Given the description of an element on the screen output the (x, y) to click on. 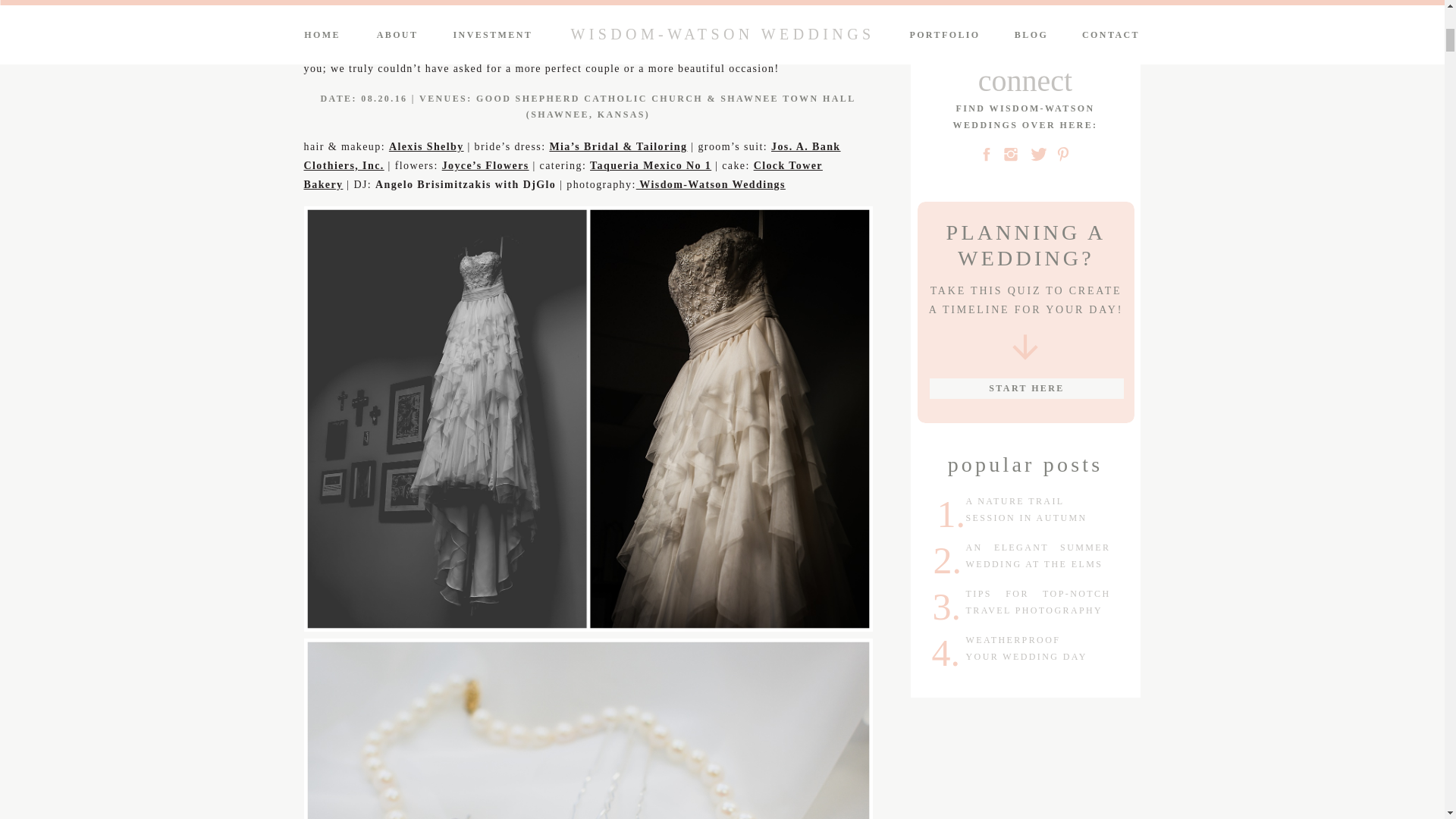
 Wisdom-Watson Weddings (711, 184)
Jos. A. Bank Clothiers, Inc. (571, 155)
CONTACT ME (1026, 7)
START HERE (1026, 388)
Alexis Shelby (426, 146)
Clock Tower Bakery (562, 174)
Taqueria Mexico No 1 (650, 165)
